Given the description of an element on the screen output the (x, y) to click on. 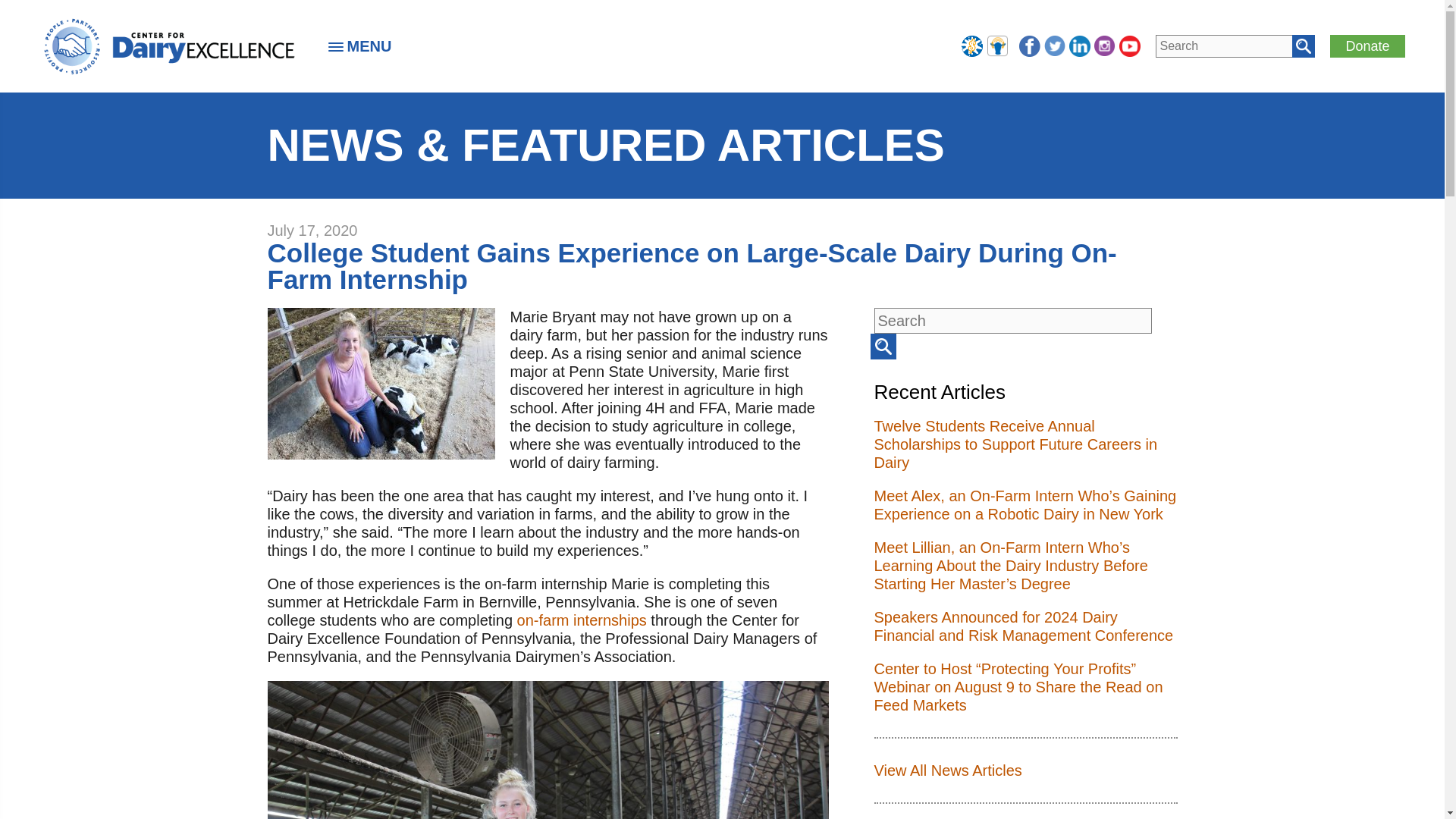
Search (883, 346)
Donate (1367, 46)
Search (1303, 46)
Center for Dairy Excellence (168, 46)
Search (1303, 46)
